Given the description of an element on the screen output the (x, y) to click on. 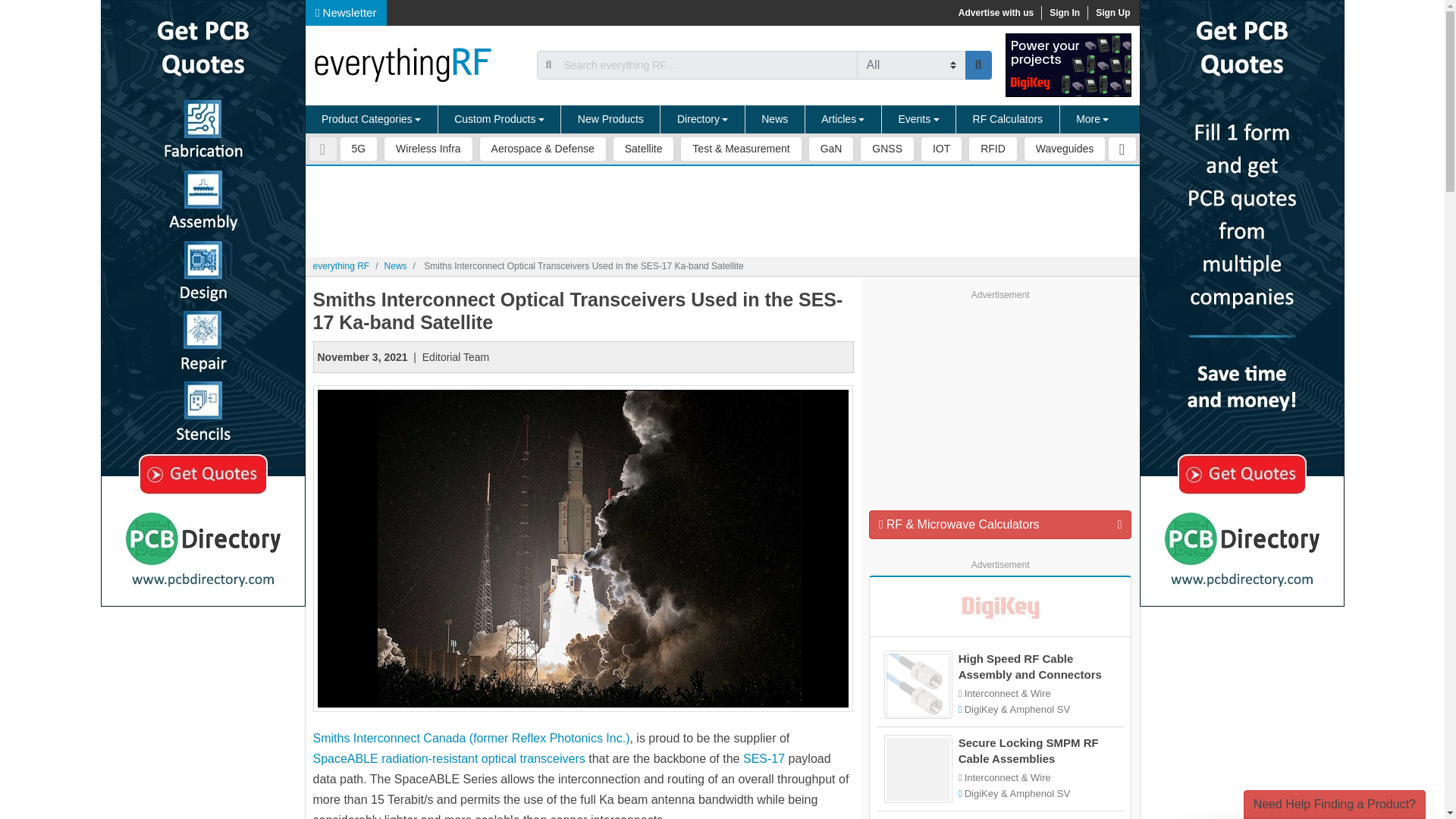
Product Categories (371, 119)
Sign In (1064, 12)
Sign Up (1112, 12)
Newsletter (345, 12)
Advertise with us (995, 12)
